Given the description of an element on the screen output the (x, y) to click on. 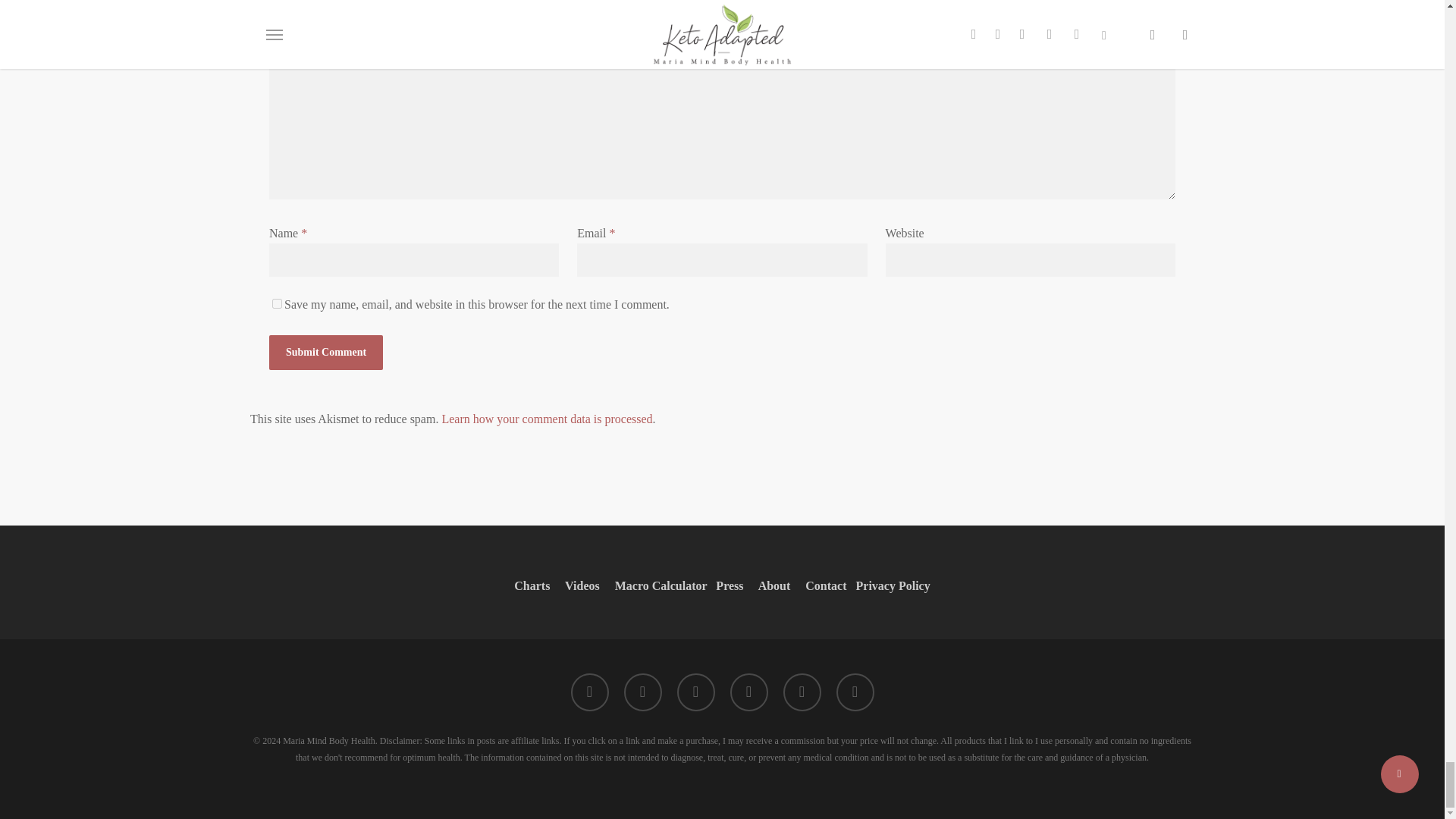
yes (277, 303)
Submit Comment (325, 352)
